Given the description of an element on the screen output the (x, y) to click on. 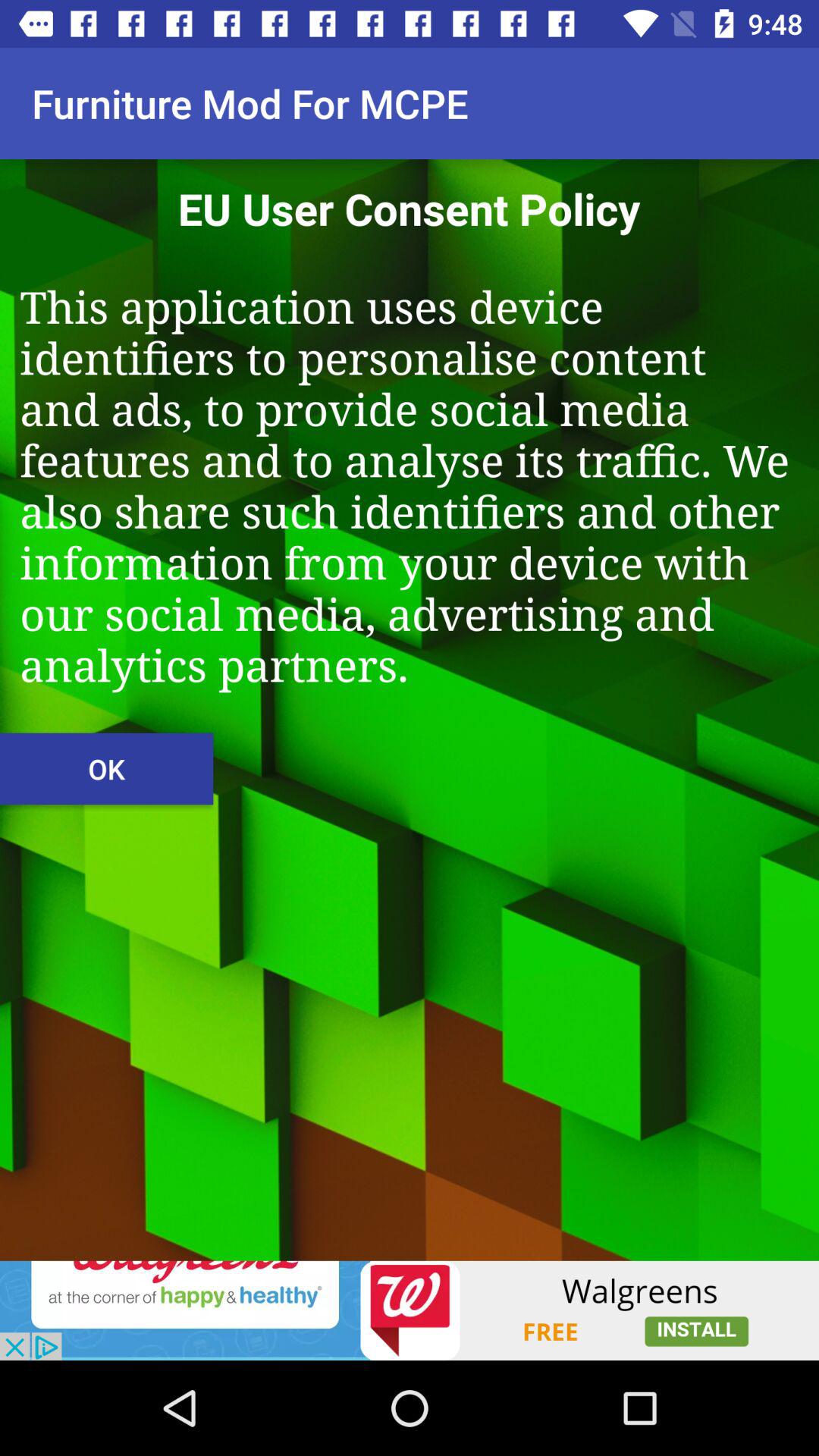
open advertisement (409, 1310)
